Given the description of an element on the screen output the (x, y) to click on. 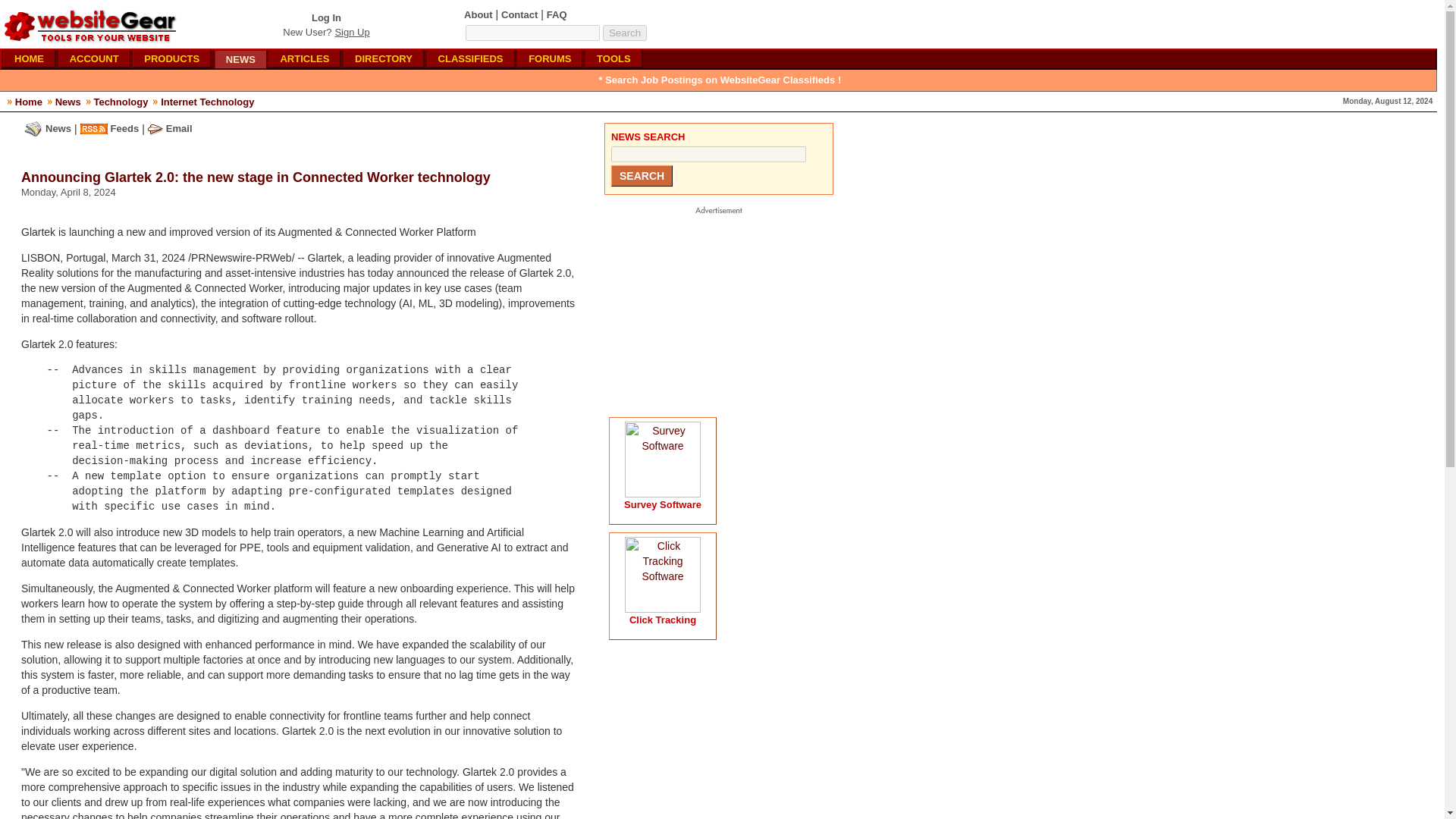
Search (624, 32)
Advertisement (714, 310)
ACCOUNT (94, 58)
FORUMS (549, 58)
HOME (28, 58)
CLASSIFIEDS (470, 58)
TOOLS (613, 58)
About (478, 14)
Survey Software (662, 504)
Search (624, 32)
